Given the description of an element on the screen output the (x, y) to click on. 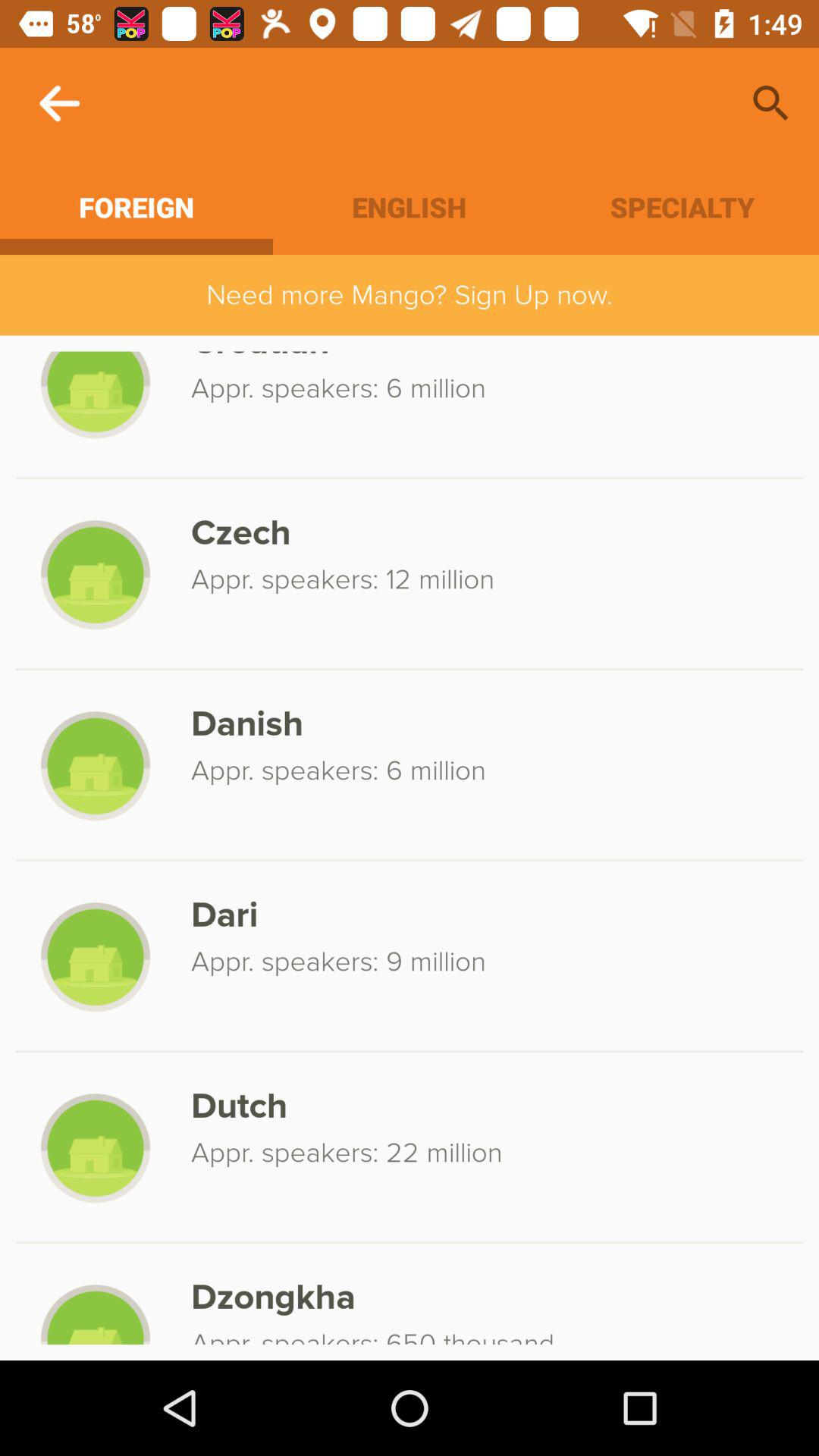
click item above the specialty item (771, 103)
